Given the description of an element on the screen output the (x, y) to click on. 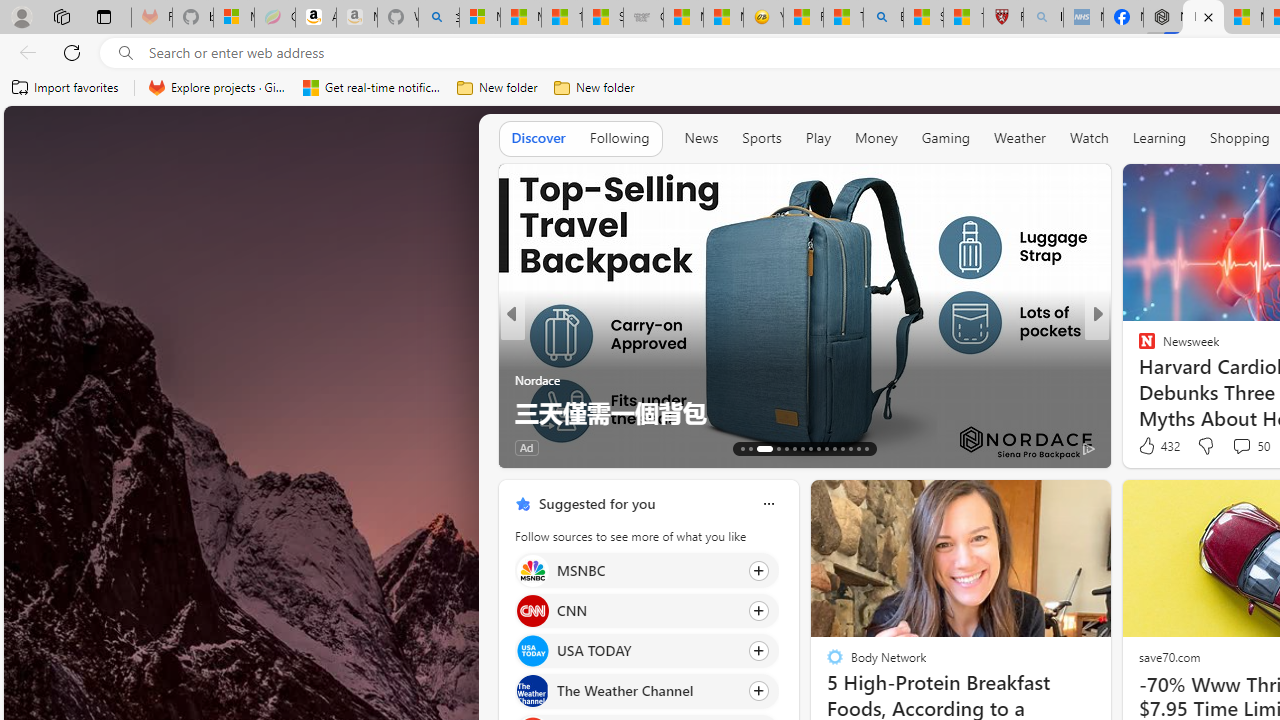
AutomationID: tab-76 (833, 448)
The Weather Channel (532, 691)
Science - MSN (923, 17)
New folder (594, 88)
View comments 28 Comment (1237, 447)
View comments 7 Comment (1229, 447)
Only Earthlings (1138, 380)
AutomationID: tab-77 (842, 448)
AutomationID: tab-66 (742, 448)
22 Like (1149, 447)
